Given the description of an element on the screen output the (x, y) to click on. 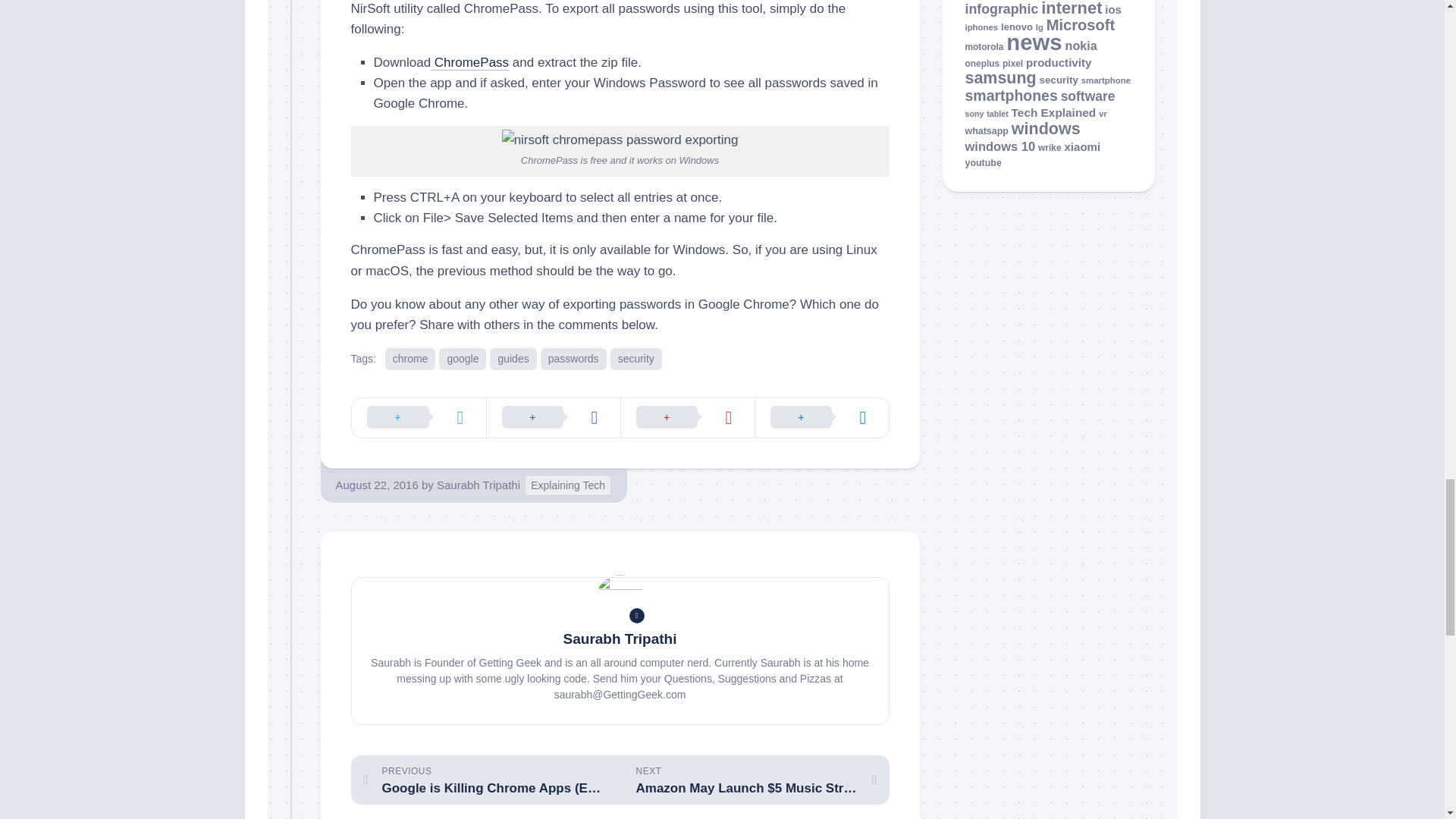
Share on Facebook (552, 417)
Share on LinkedIn (821, 417)
Posts by Saurabh Tripathi (477, 484)
Share on X (419, 417)
Share on Pinterest (687, 417)
